Given the description of an element on the screen output the (x, y) to click on. 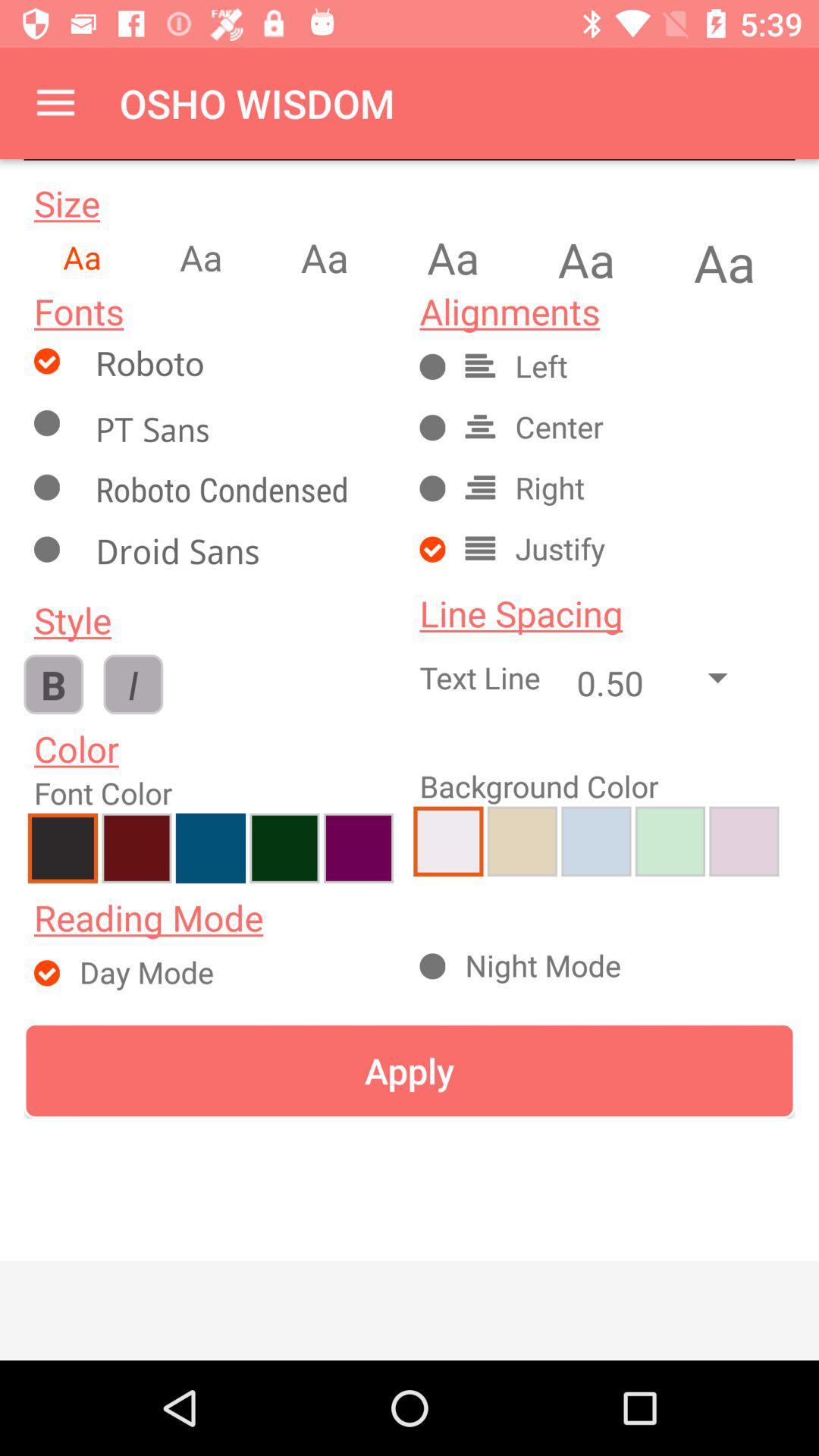
change font color (136, 848)
